Given the description of an element on the screen output the (x, y) to click on. 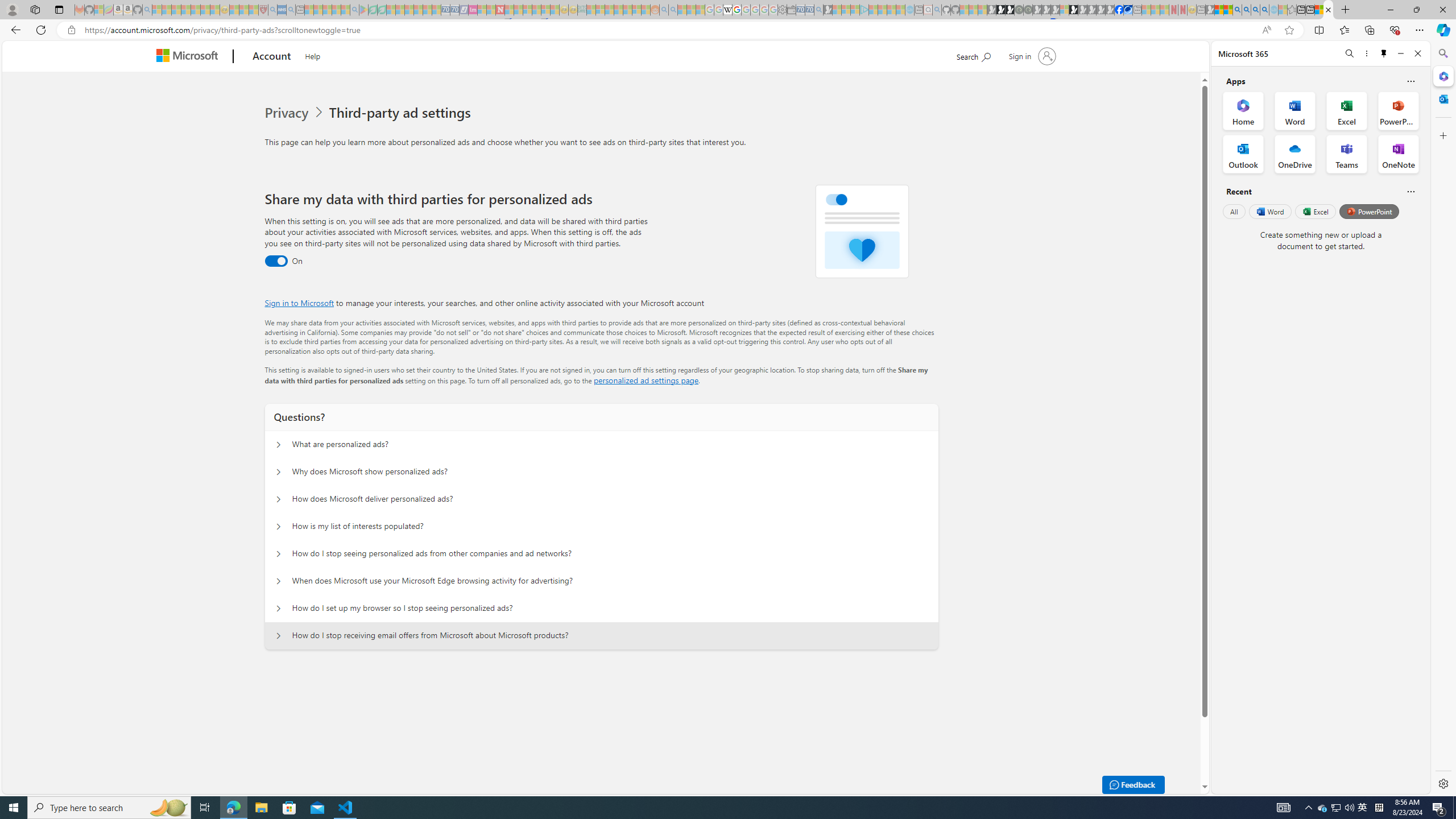
Questions? What are personalized ads? (278, 444)
Excel (1315, 210)
personalized ad settings page (645, 379)
Nordace | Facebook (1118, 9)
MSN - Sleeping (1210, 9)
Word (1269, 210)
